Given the description of an element on the screen output the (x, y) to click on. 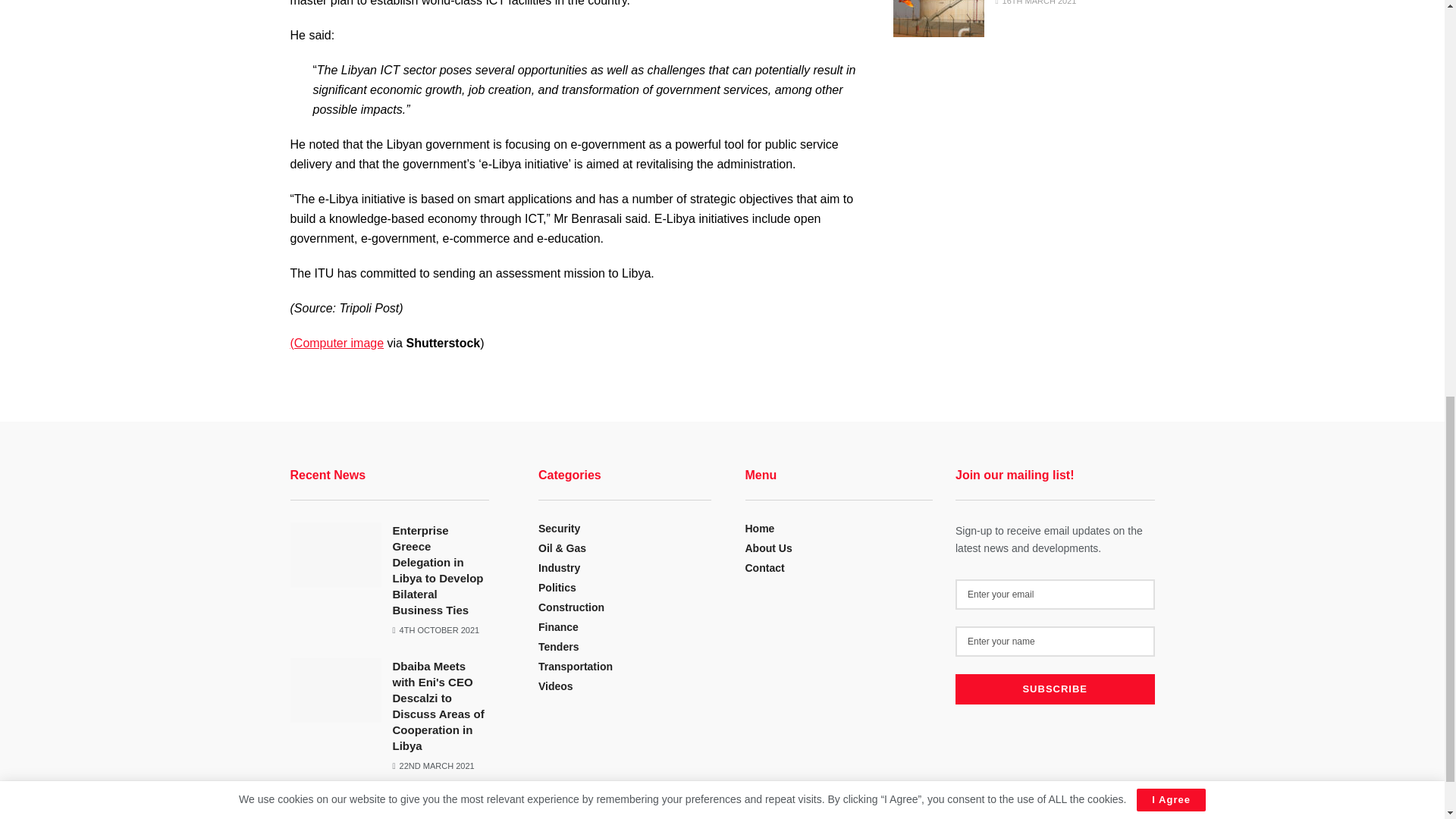
Enter your name (1054, 641)
Subscribe (1054, 689)
Enter your email (1054, 594)
